Given the description of an element on the screen output the (x, y) to click on. 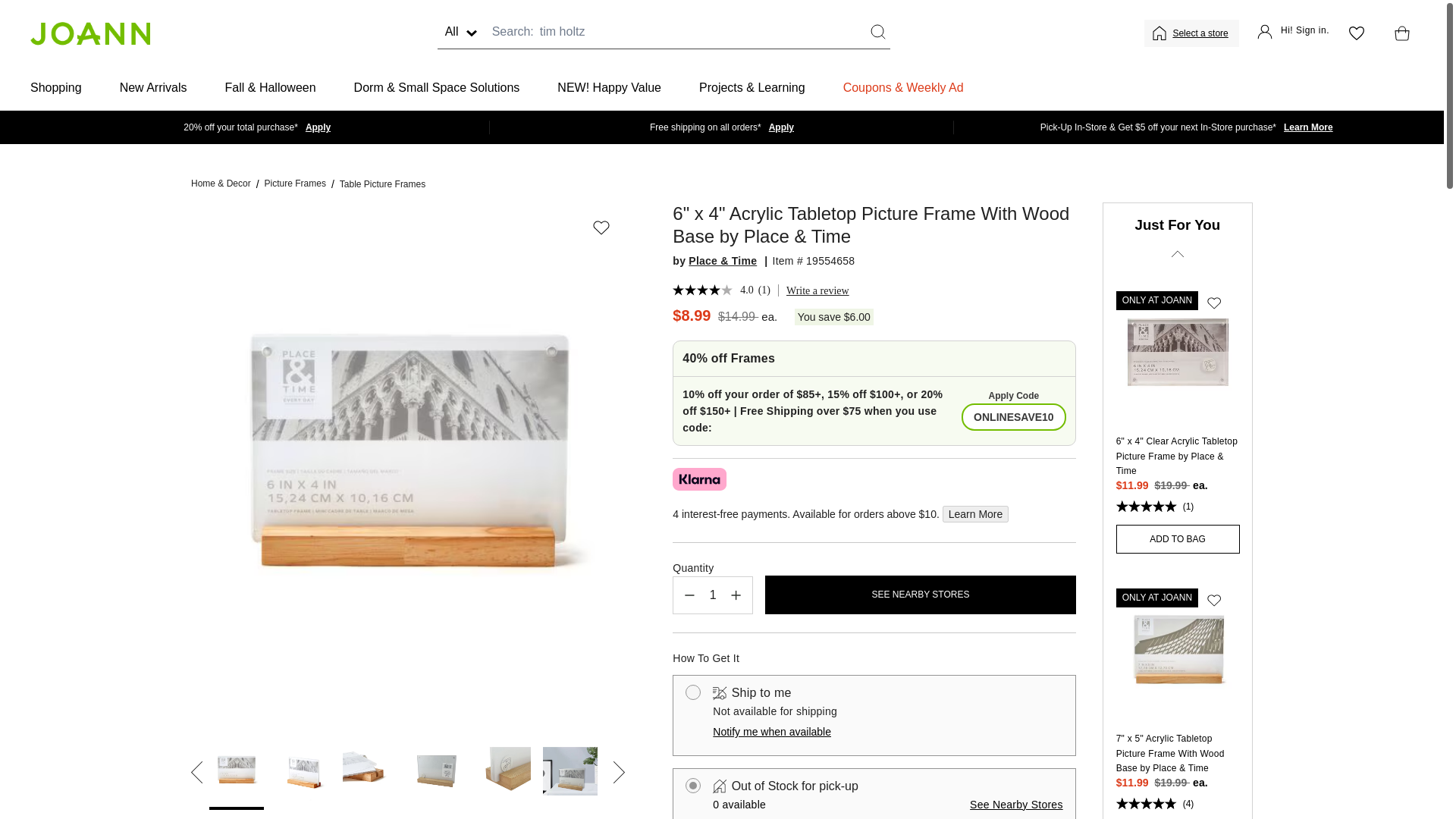
Favorites (1356, 33)
Shopping (55, 87)
Picture Frames (295, 183)
1 (712, 595)
Hi! Sign in. (1293, 33)
Select a store (1201, 32)
Hi! Sign in. (1293, 33)
Table Picture Frames (382, 184)
View Cart (1398, 33)
JO-ANN STORES, LLC Home (89, 33)
